Given the description of an element on the screen output the (x, y) to click on. 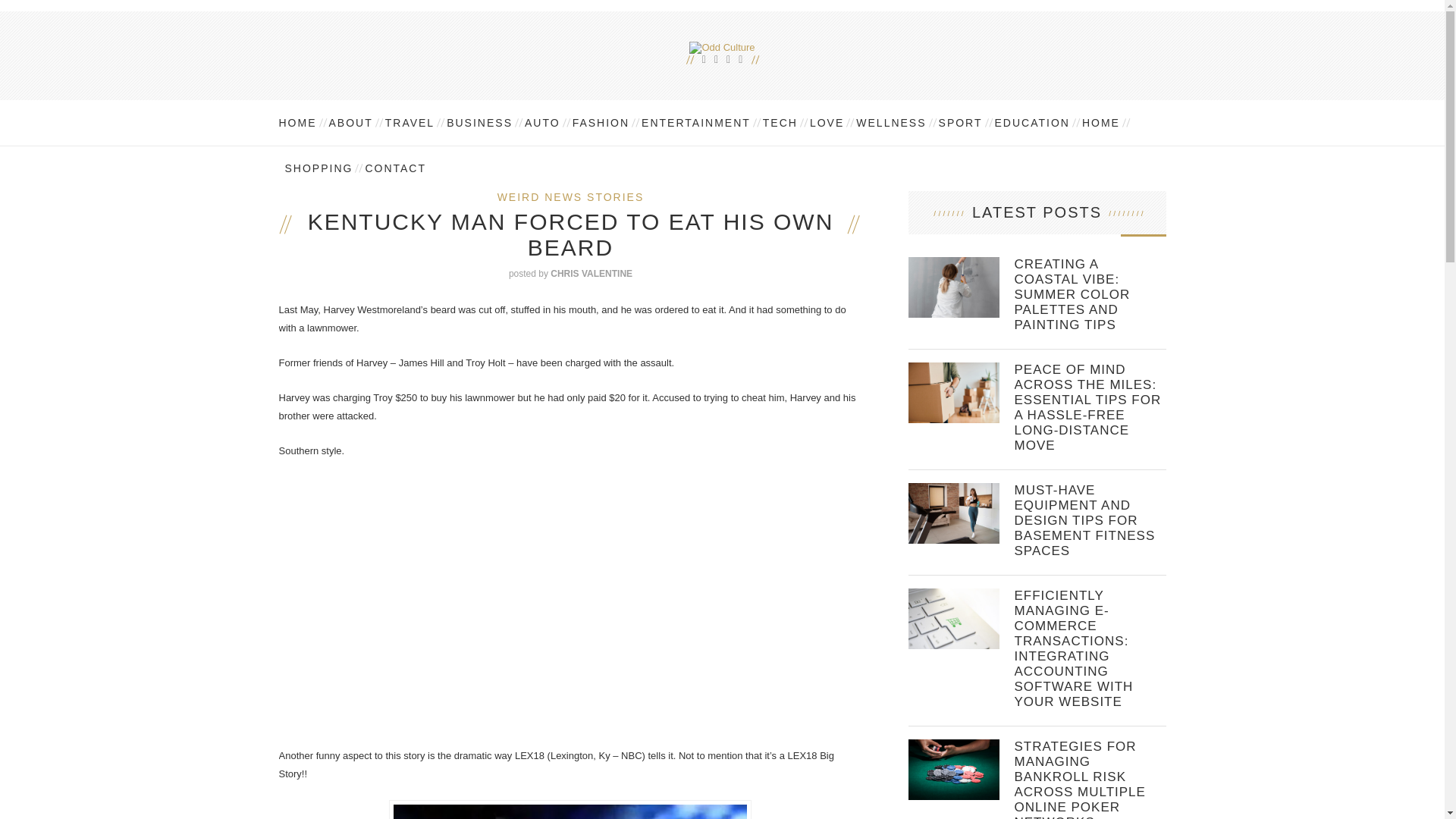
WELLNESS (890, 122)
AUTO (542, 122)
FASHION (600, 122)
SHOPPING (319, 167)
SPORT (960, 122)
HOME (1100, 122)
